Given the description of an element on the screen output the (x, y) to click on. 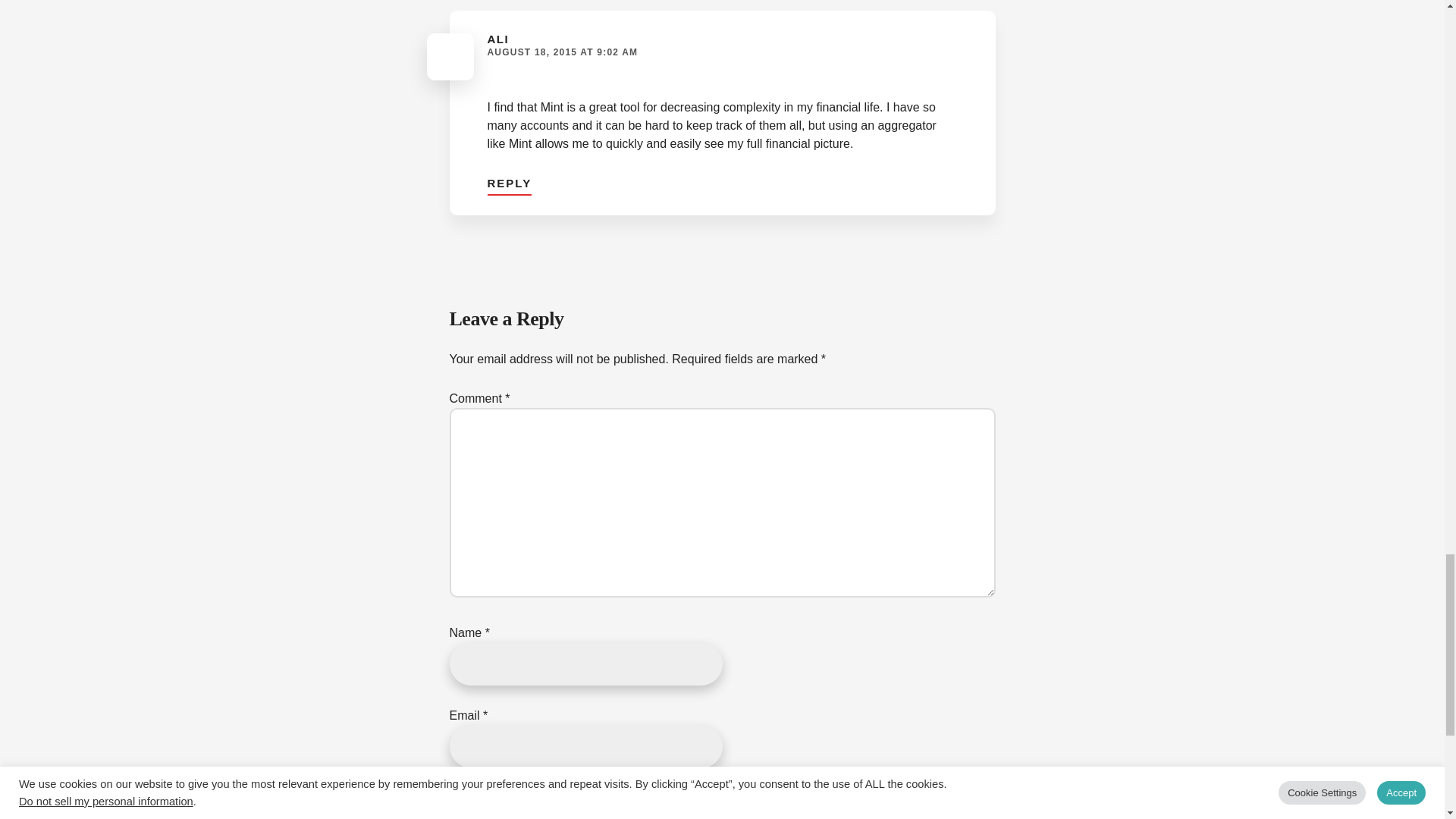
ALI (497, 38)
REPLY (508, 179)
AUGUST 18, 2015 AT 9:02 AM (561, 51)
